Given the description of an element on the screen output the (x, y) to click on. 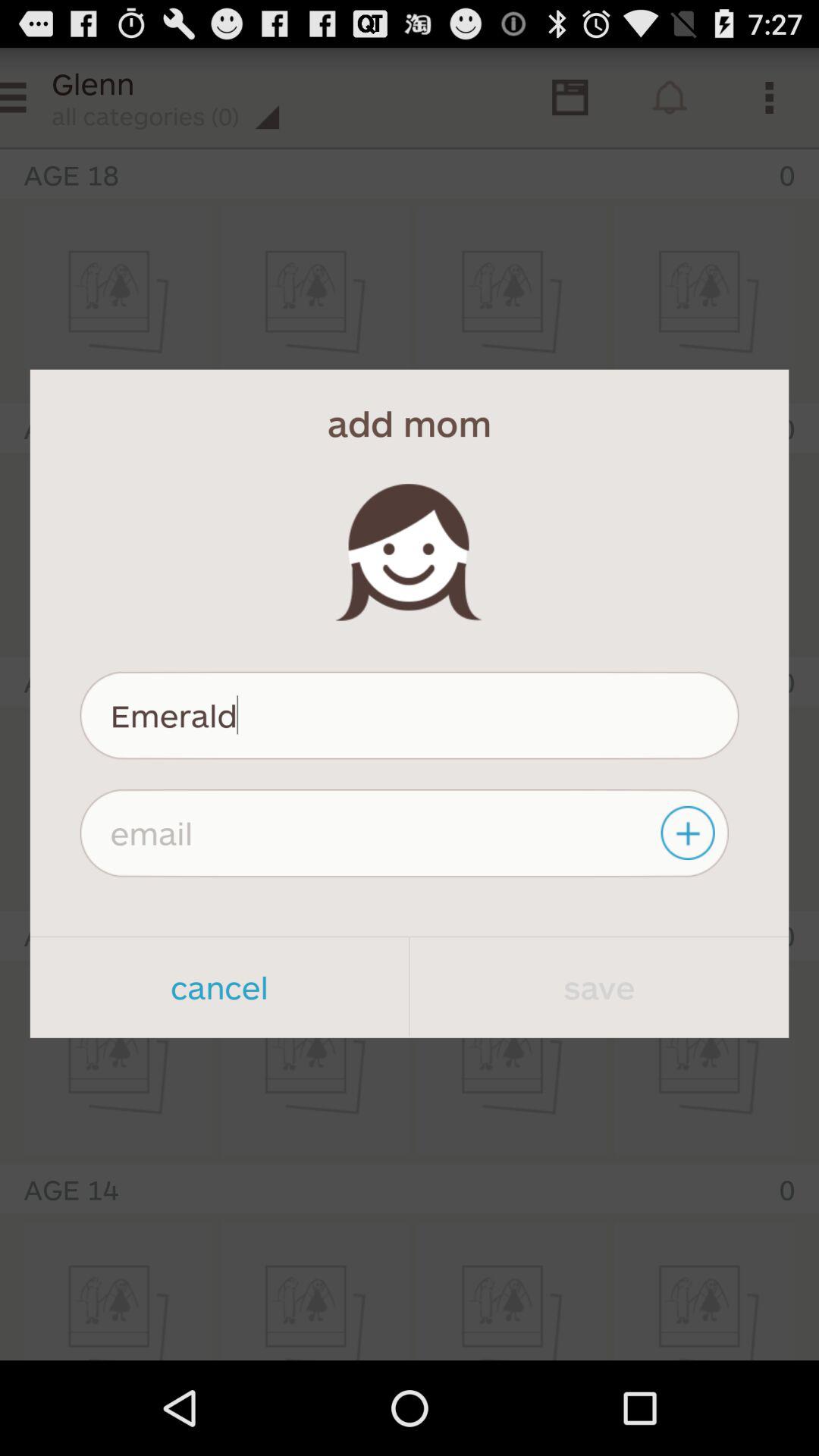
add email button (689, 832)
